Given the description of an element on the screen output the (x, y) to click on. 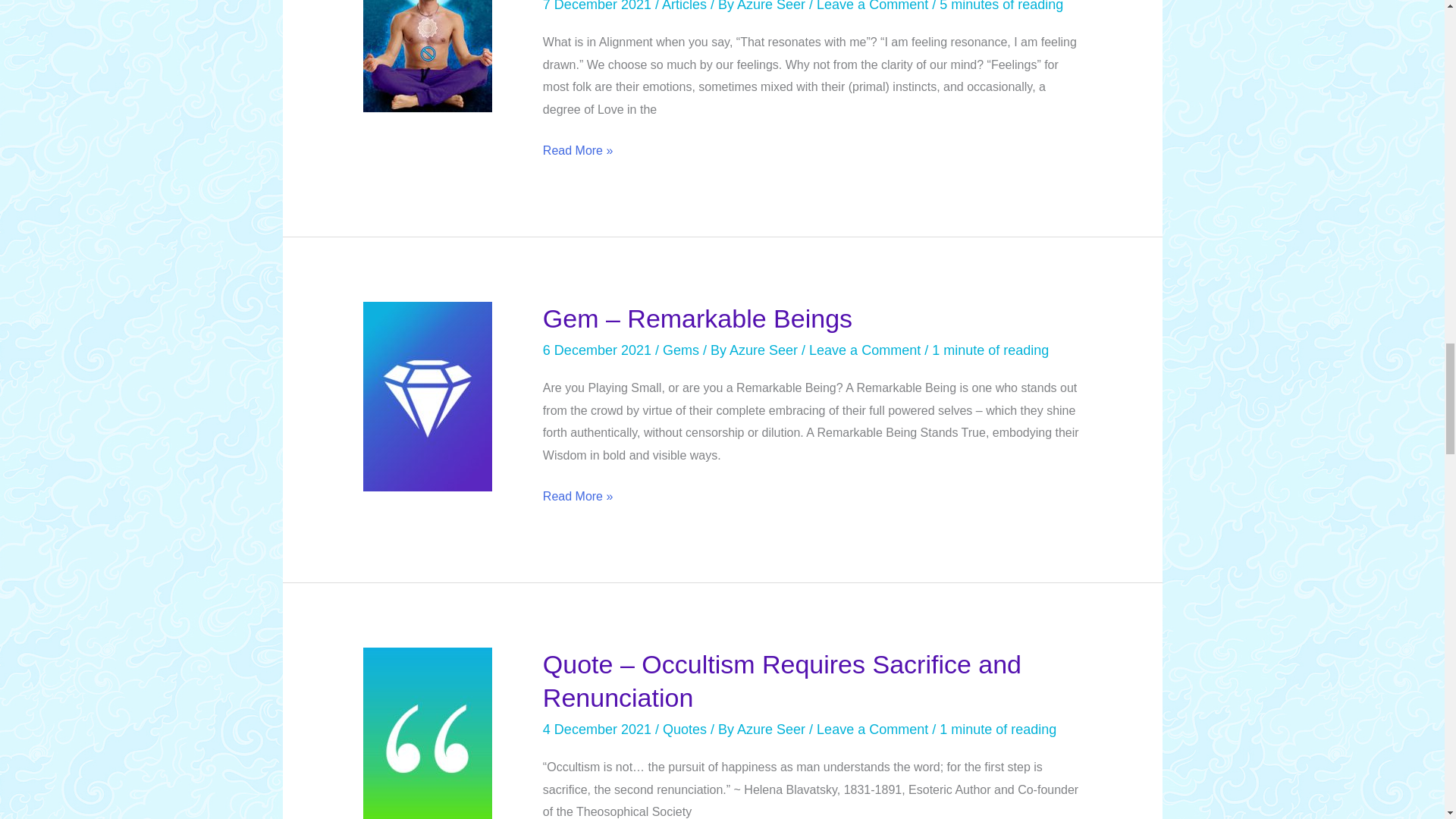
View all posts by Azure Seer (772, 6)
View all posts by Azure Seer (765, 350)
View all posts by Azure Seer (772, 729)
